Given the description of an element on the screen output the (x, y) to click on. 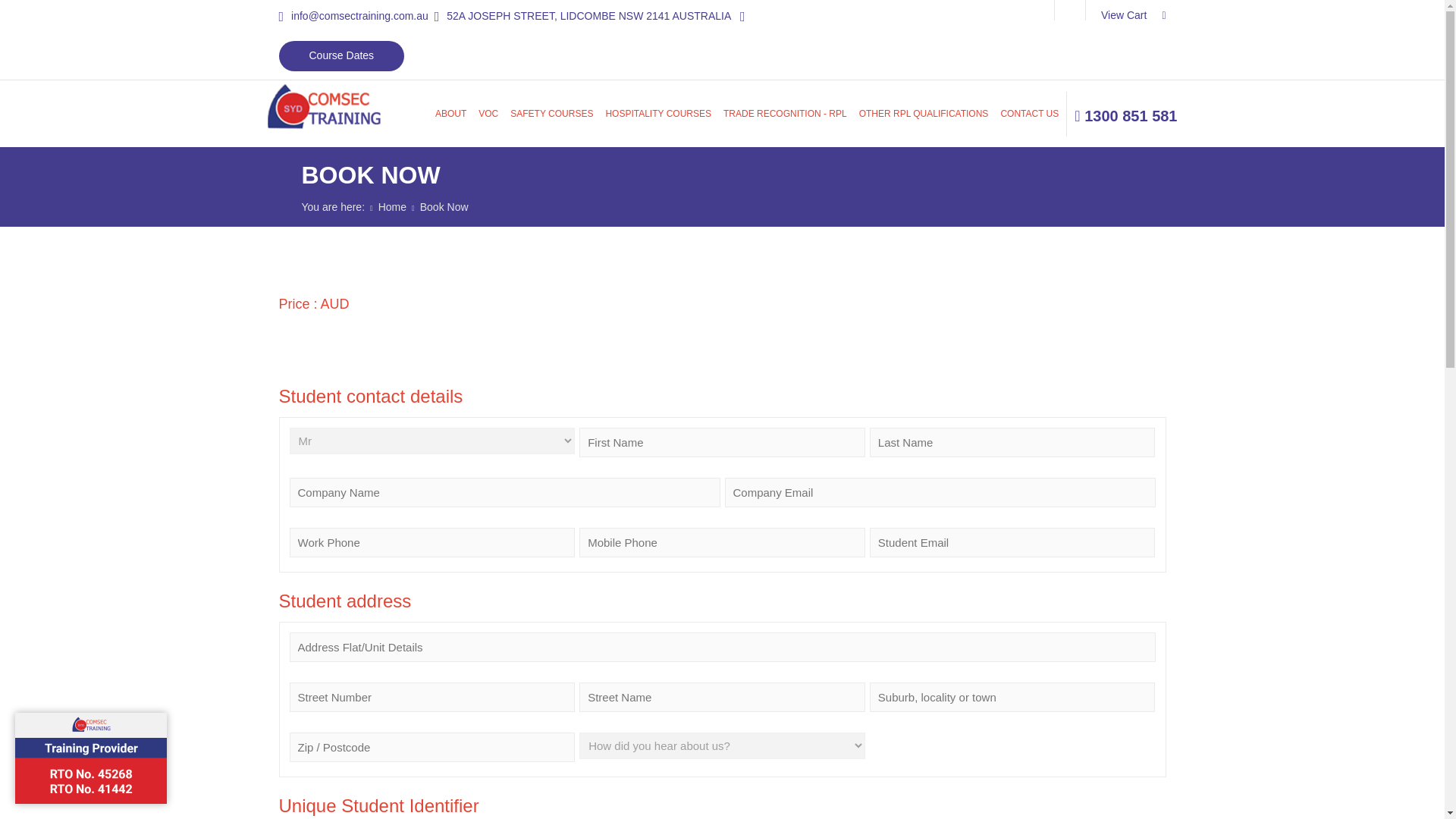
Course Dates (341, 55)
View Cart (1133, 15)
1300 851 581 (1125, 115)
SAFETY COURSES (550, 113)
52A JOSEPH STREET, LIDCOMBE NSW 2141 AUSTRALIA (582, 15)
TRADE RECOGNITION - RPL (784, 113)
HOSPITALITY COURSES (657, 113)
